Given the description of an element on the screen output the (x, y) to click on. 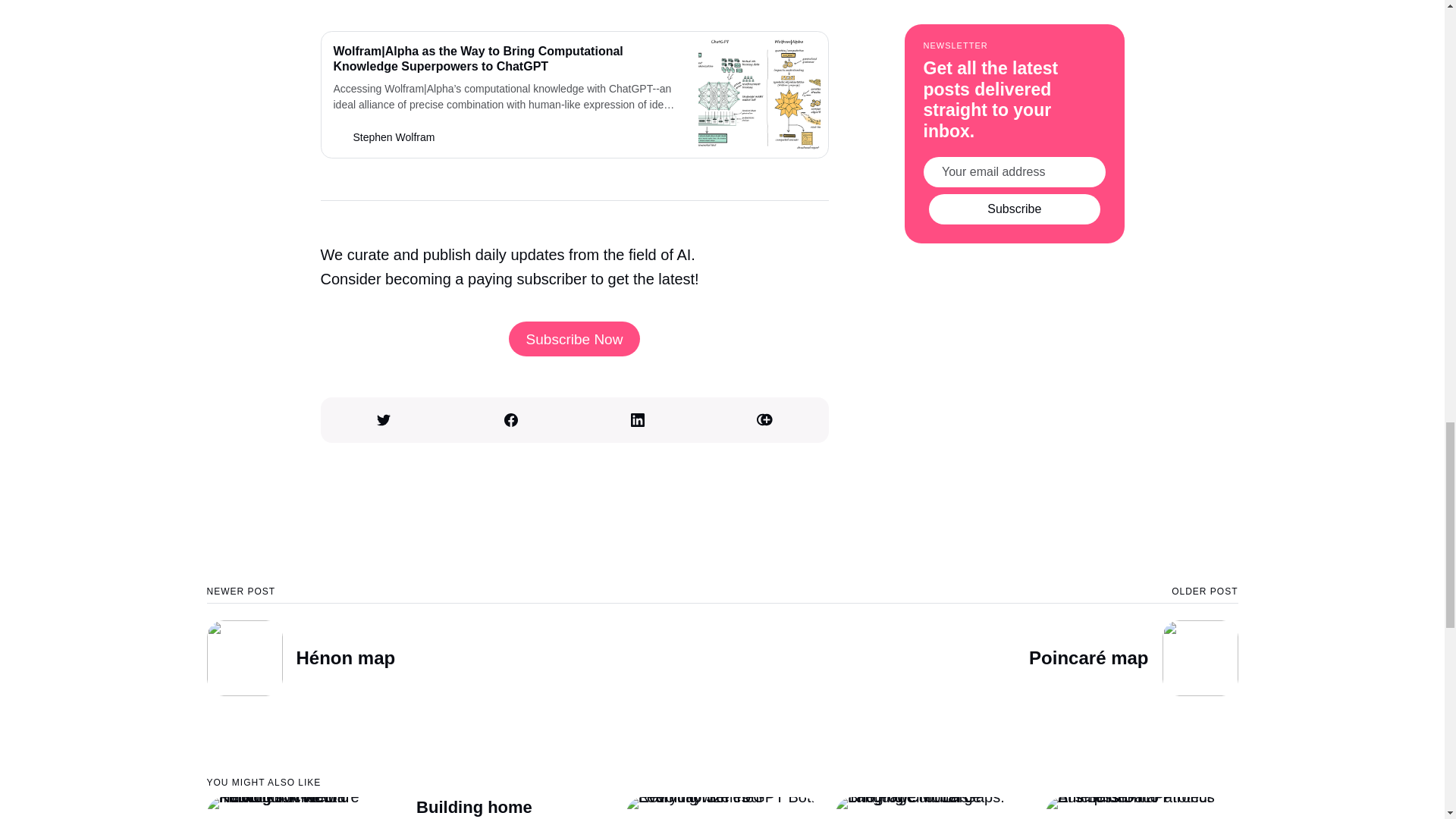
Subscribe Now (574, 338)
Building home automation (474, 808)
Subscribe (1014, 42)
